Given the description of an element on the screen output the (x, y) to click on. 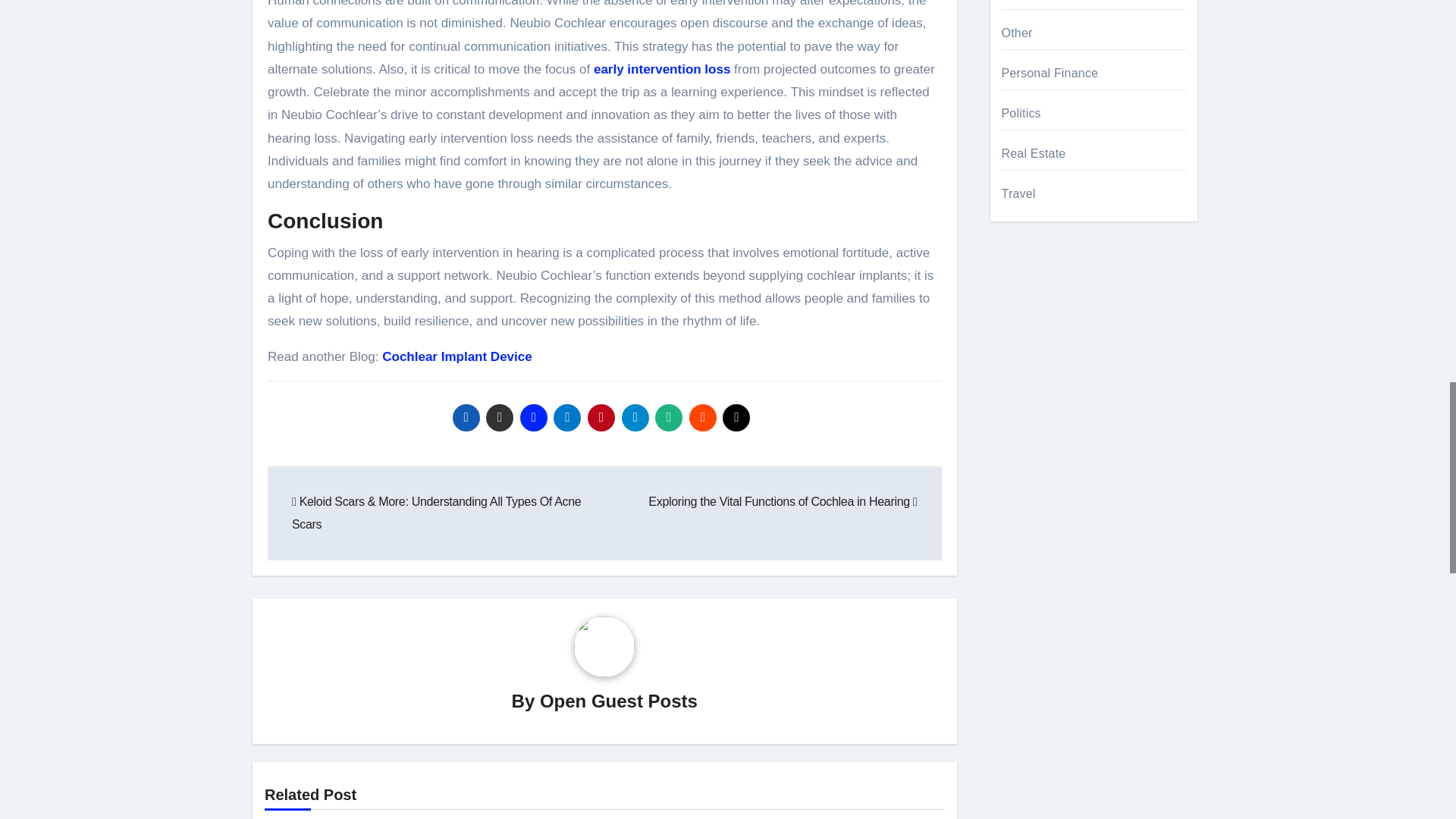
Exploring the Vital Functions of Cochlea in Hearing (782, 501)
Cochlear Implant Device (456, 356)
early intervention loss (662, 69)
